Given the description of an element on the screen output the (x, y) to click on. 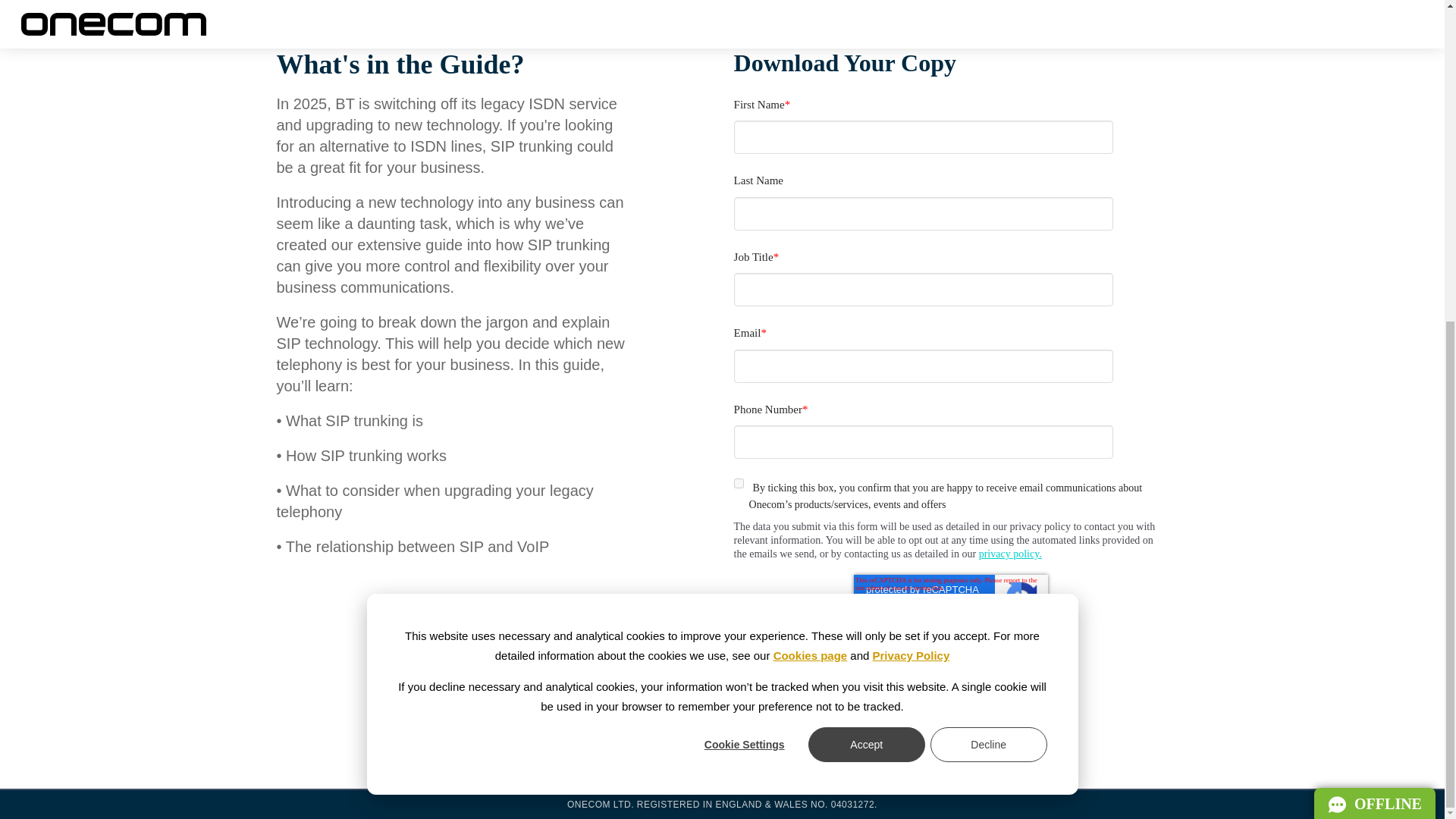
reCAPTCHA (950, 596)
true (1374, 280)
privacy policy. (738, 483)
Submit (1010, 553)
Submit (782, 668)
